Given the description of an element on the screen output the (x, y) to click on. 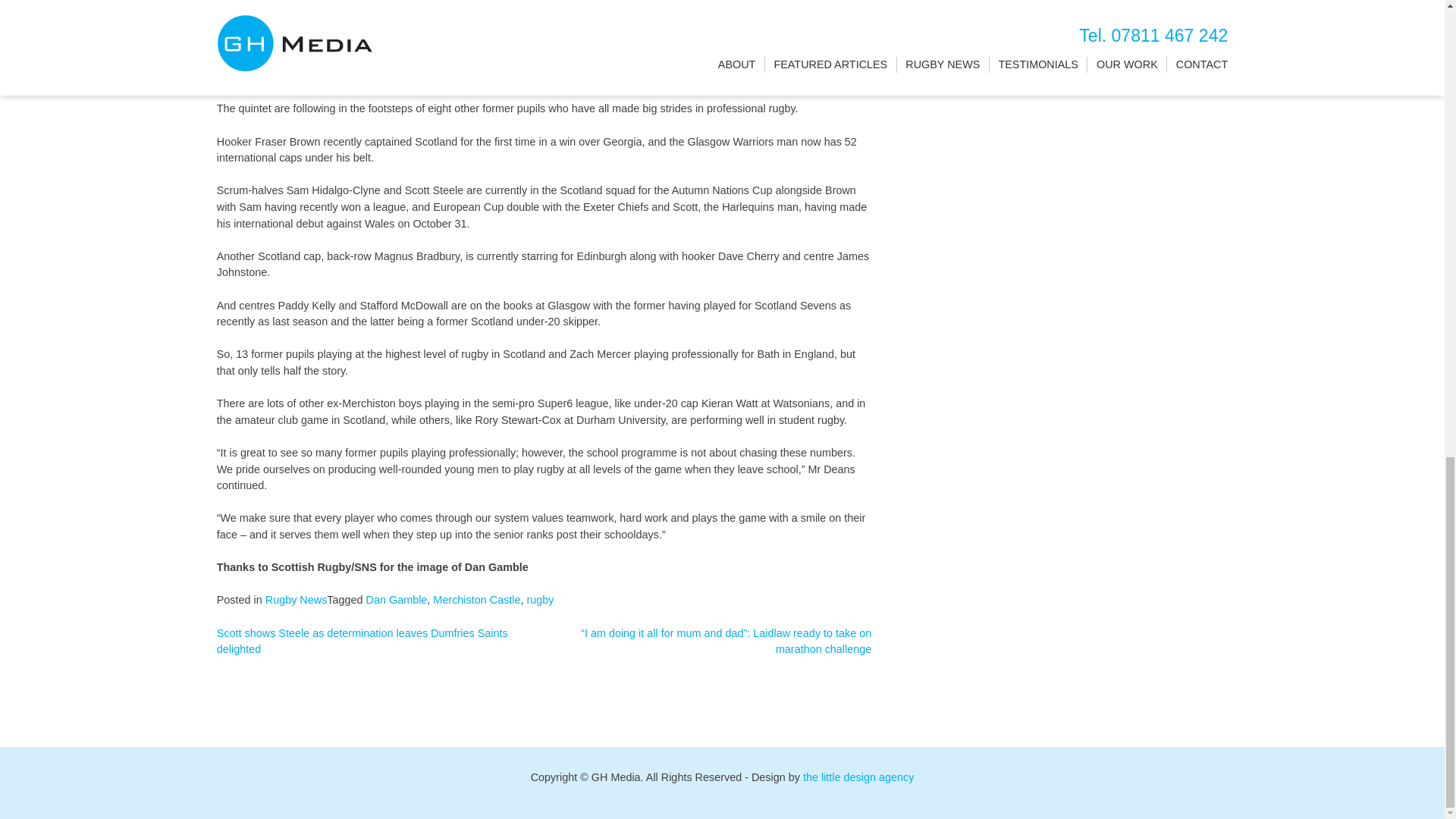
Dan Gamble (397, 599)
rugby (540, 599)
the little design agency (858, 776)
Merchiston Castle (475, 599)
Rugby News (295, 599)
